Given the description of an element on the screen output the (x, y) to click on. 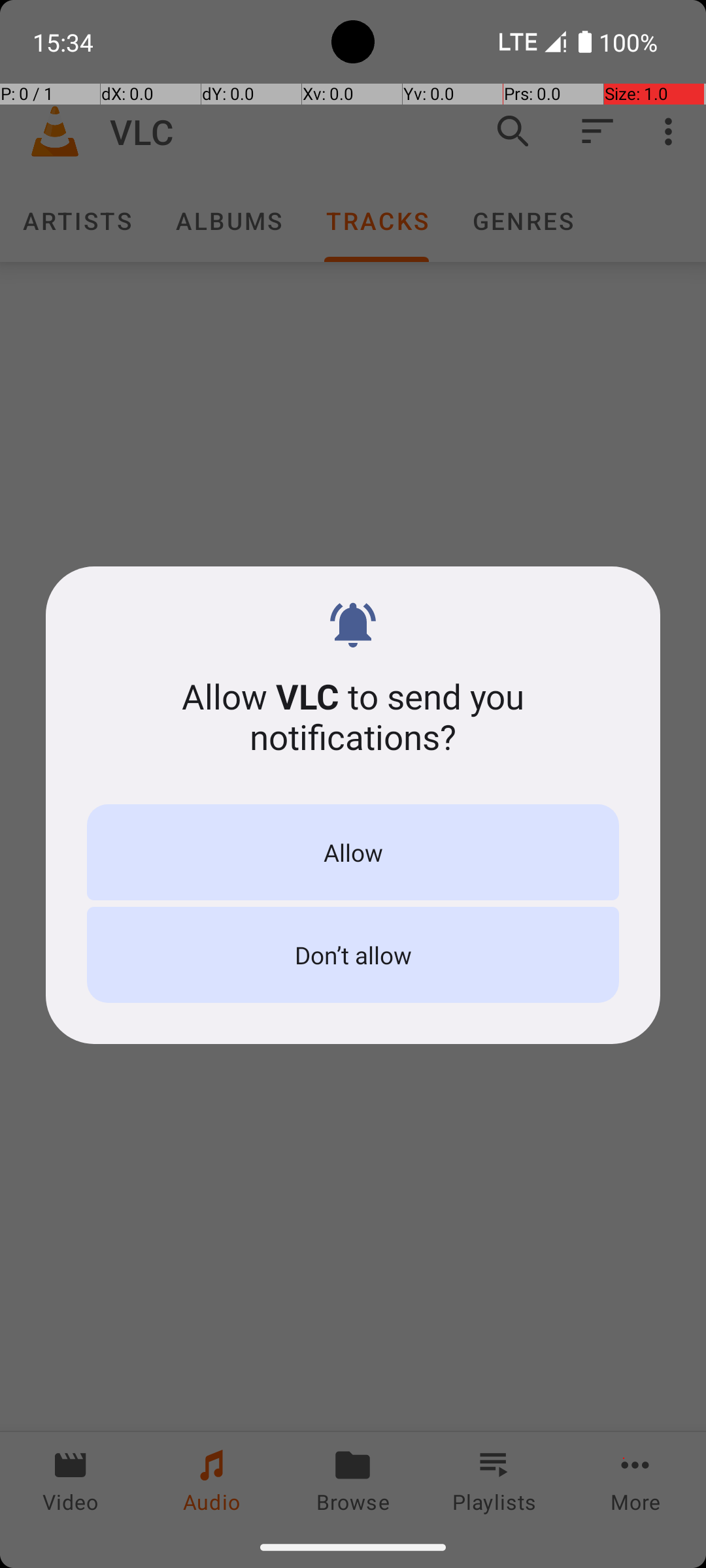
Allow VLC to send you notifications? Element type: android.widget.TextView (352, 715)
